Given the description of an element on the screen output the (x, y) to click on. 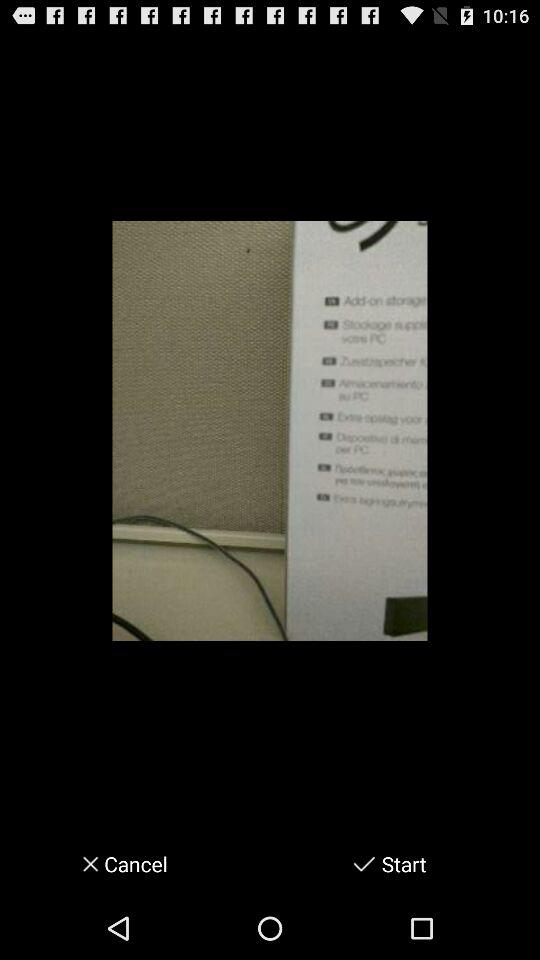
cancel option (83, 864)
